Given the description of an element on the screen output the (x, y) to click on. 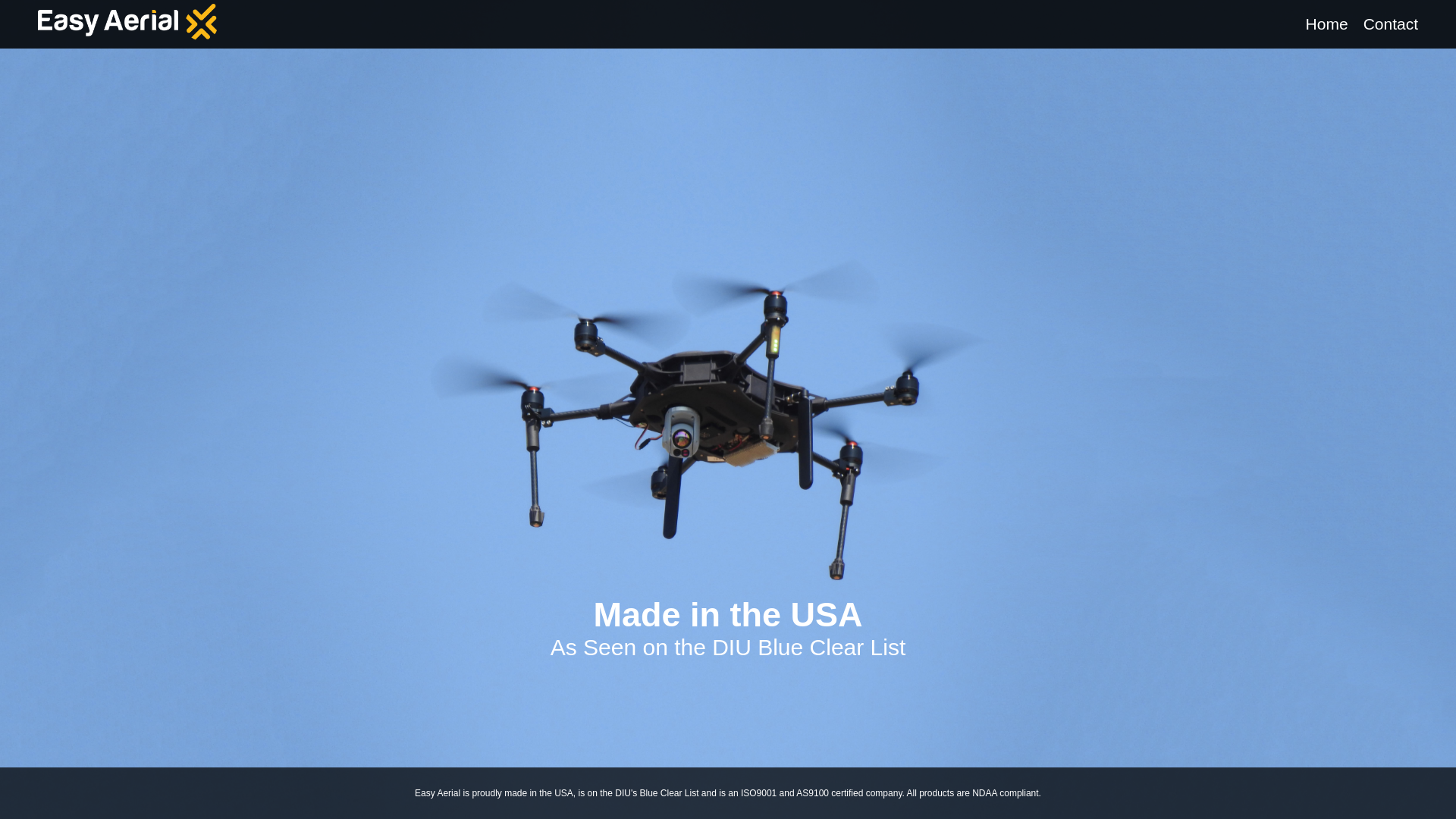
Home (1327, 23)
